Given the description of an element on the screen output the (x, y) to click on. 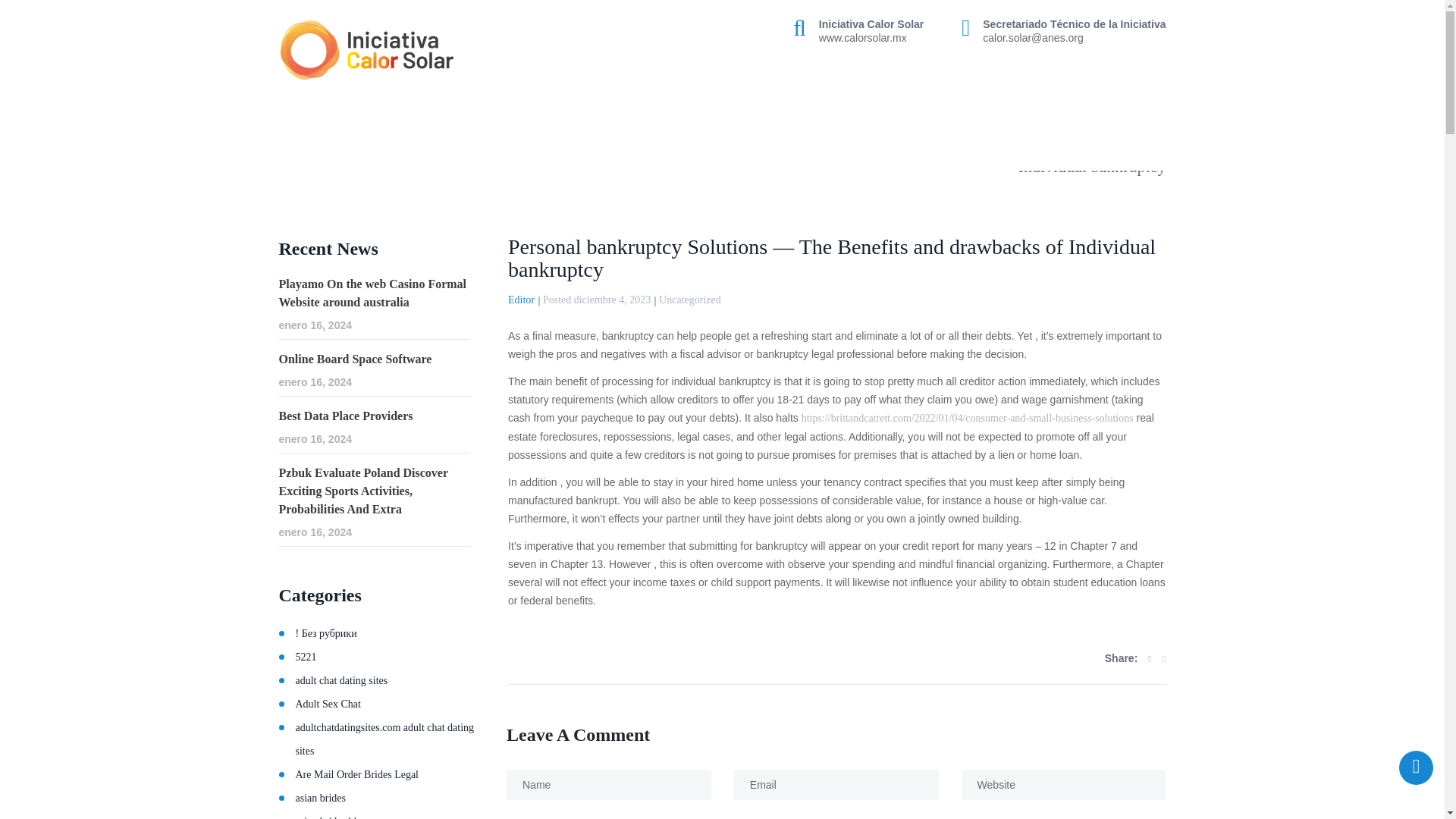
Playamo On the web Casino Formal Website around australia (374, 293)
CAPITAL HUMANO (860, 101)
RECURSOS MULTIMEDIA (1086, 101)
Home (294, 147)
Uncategorized (689, 299)
NOTICIAS (965, 101)
Posted diciembre 4, 2023 (596, 299)
ACERCA DE LA INICIAITVA (450, 101)
Calor Solar (366, 49)
LOGIN (1142, 147)
Calor Solar (294, 147)
Online Board Space Software (374, 359)
Editor (521, 299)
View all posts by editor (521, 299)
CALOR SOLAR (584, 101)
